Given the description of an element on the screen output the (x, y) to click on. 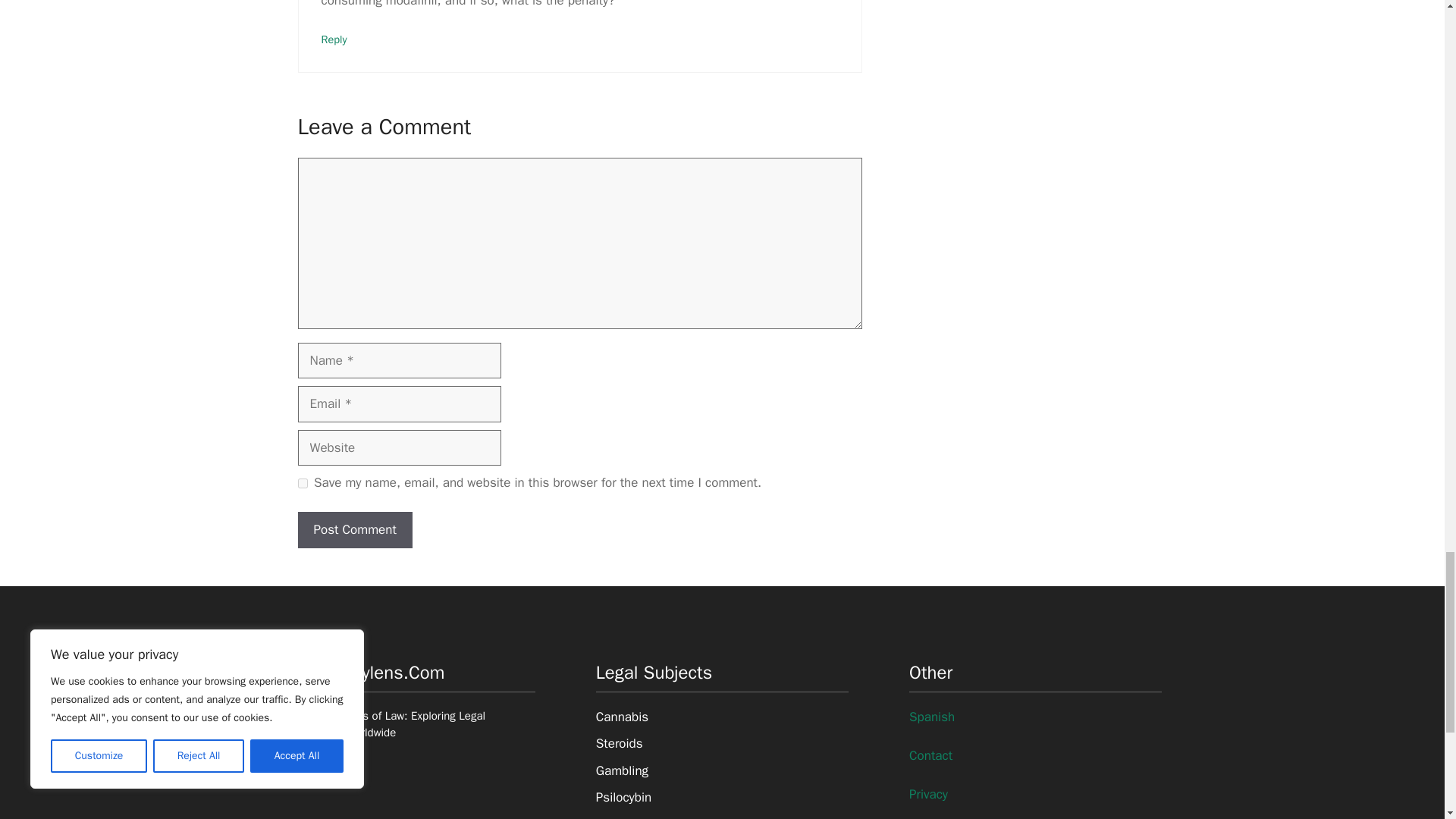
Post Comment (354, 529)
yes (302, 482)
